Given the description of an element on the screen output the (x, y) to click on. 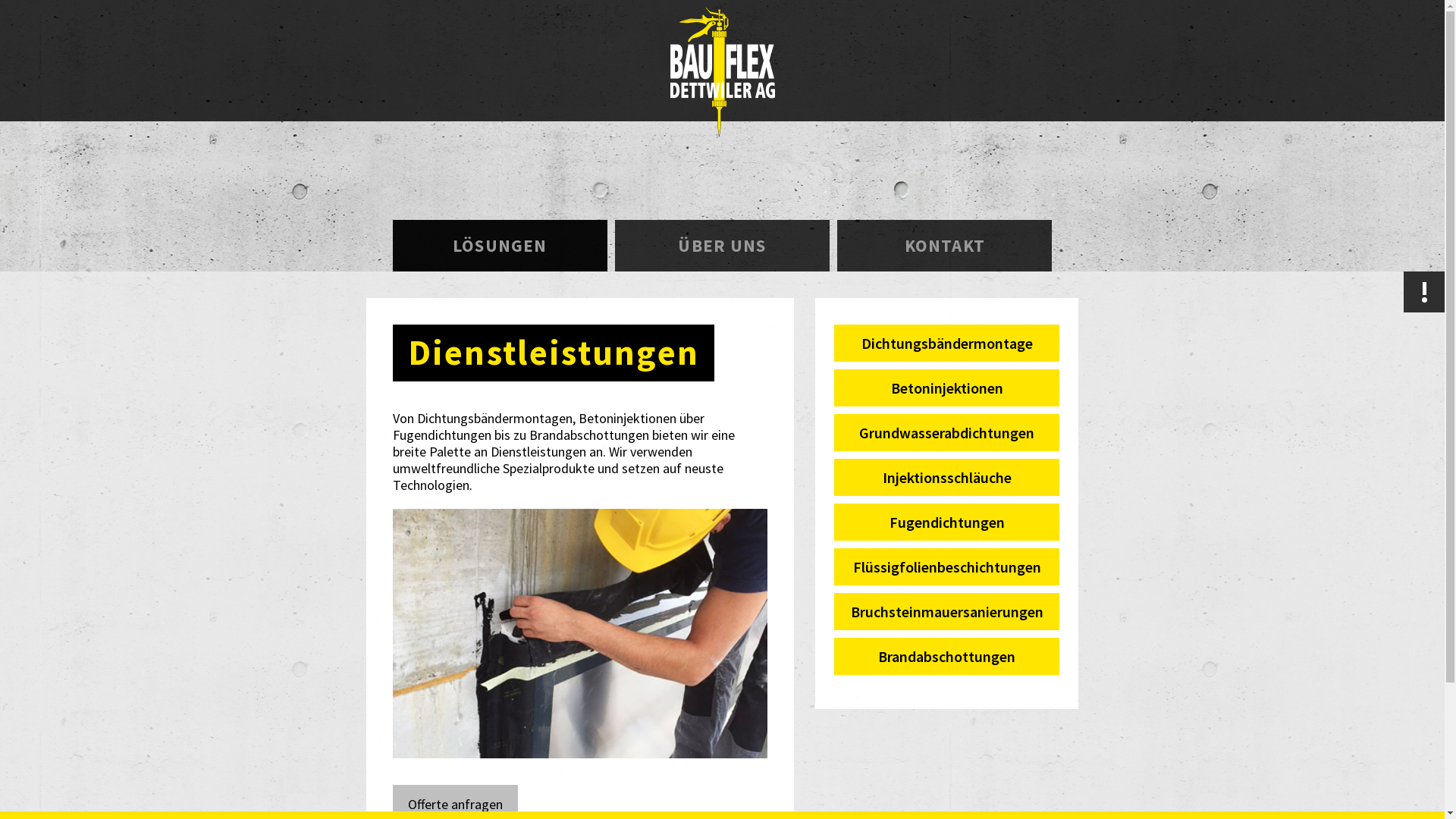
Bruchsteinmauersanierungen Element type: text (947, 611)
Grundwasserabdichtungen Element type: text (947, 432)
Betoninjektionen Element type: text (947, 387)
Aktuell Element type: hover (1423, 291)
Fugendichtungen Element type: text (947, 521)
Brandabschottungen Element type: text (947, 655)
KONTAKT Element type: text (944, 245)
